Given the description of an element on the screen output the (x, y) to click on. 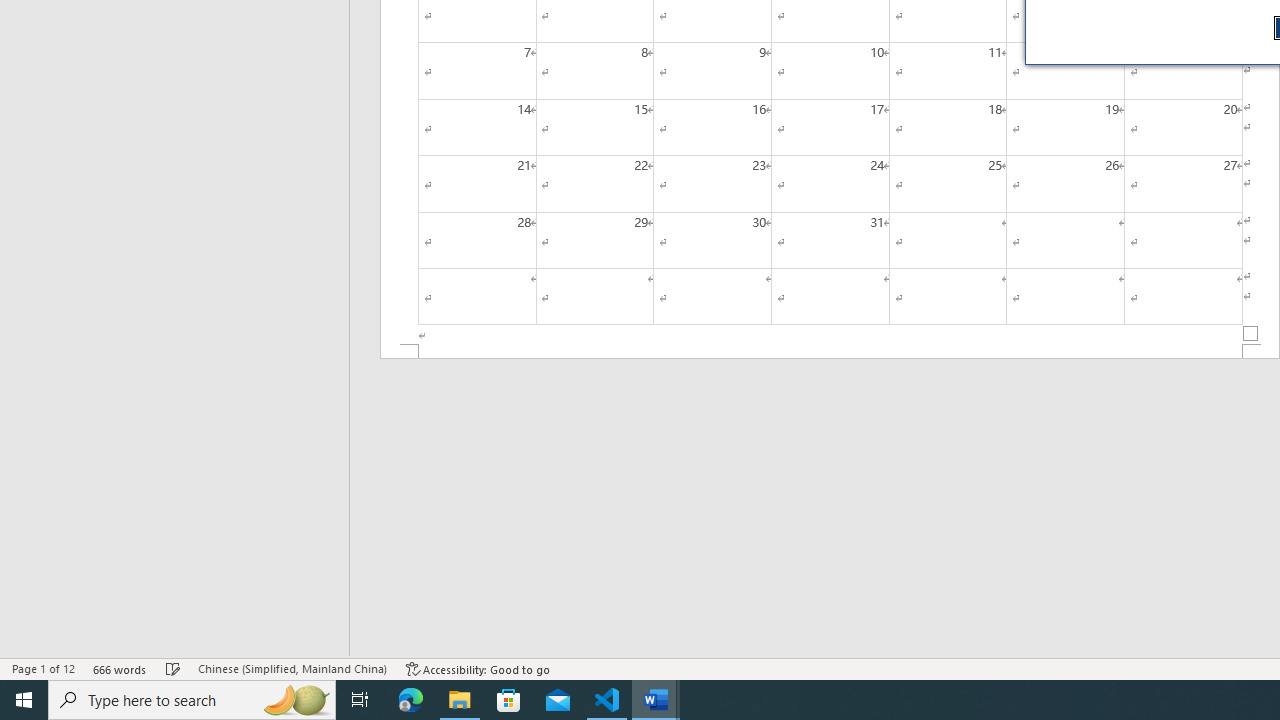
Accessibility Checker Accessibility: Good to go (478, 668)
Search highlights icon opens search home window (295, 699)
